Given the description of an element on the screen output the (x, y) to click on. 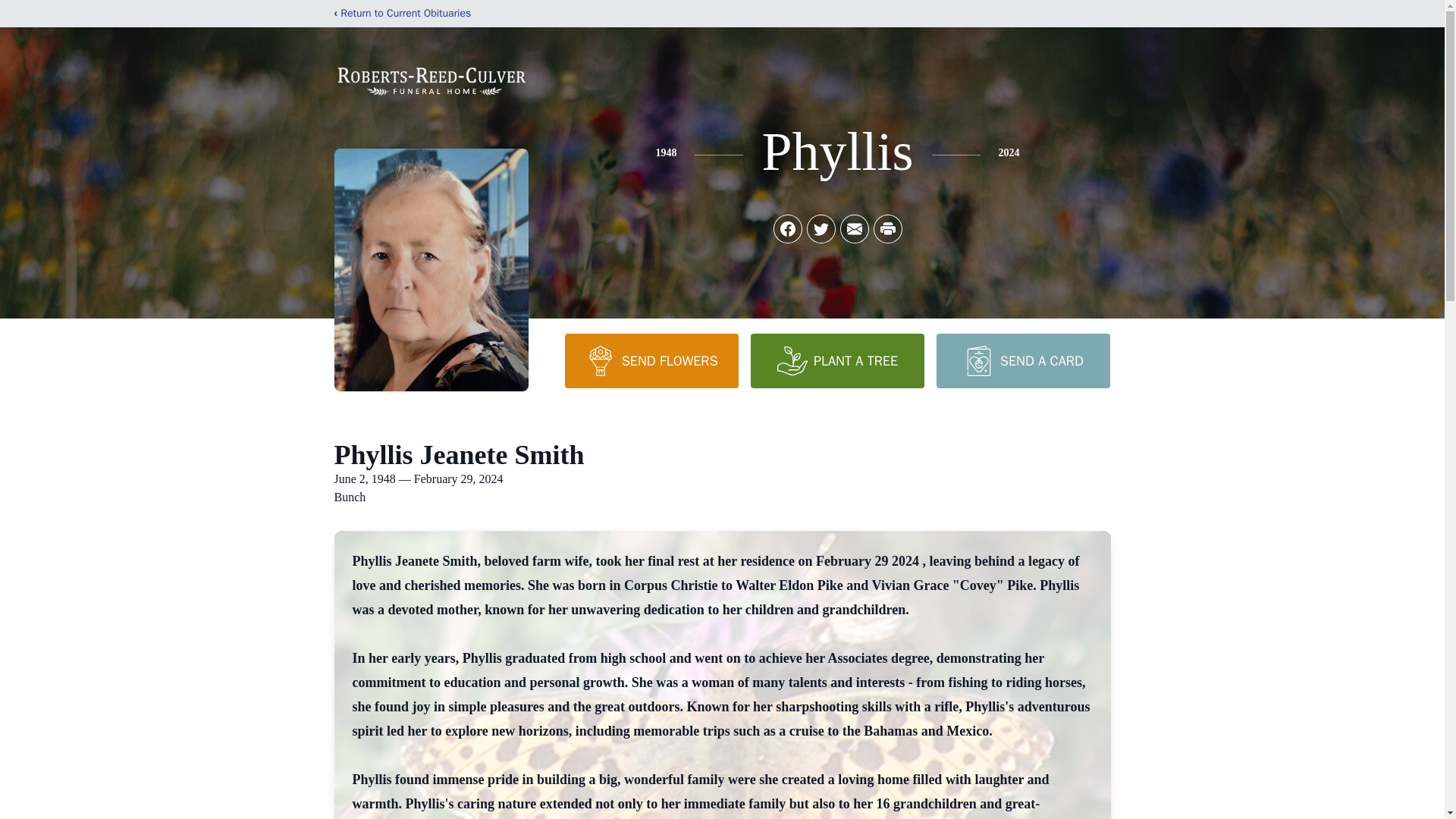
SEND A CARD (1022, 360)
PLANT A TREE (837, 360)
SEND FLOWERS (651, 360)
